Given the description of an element on the screen output the (x, y) to click on. 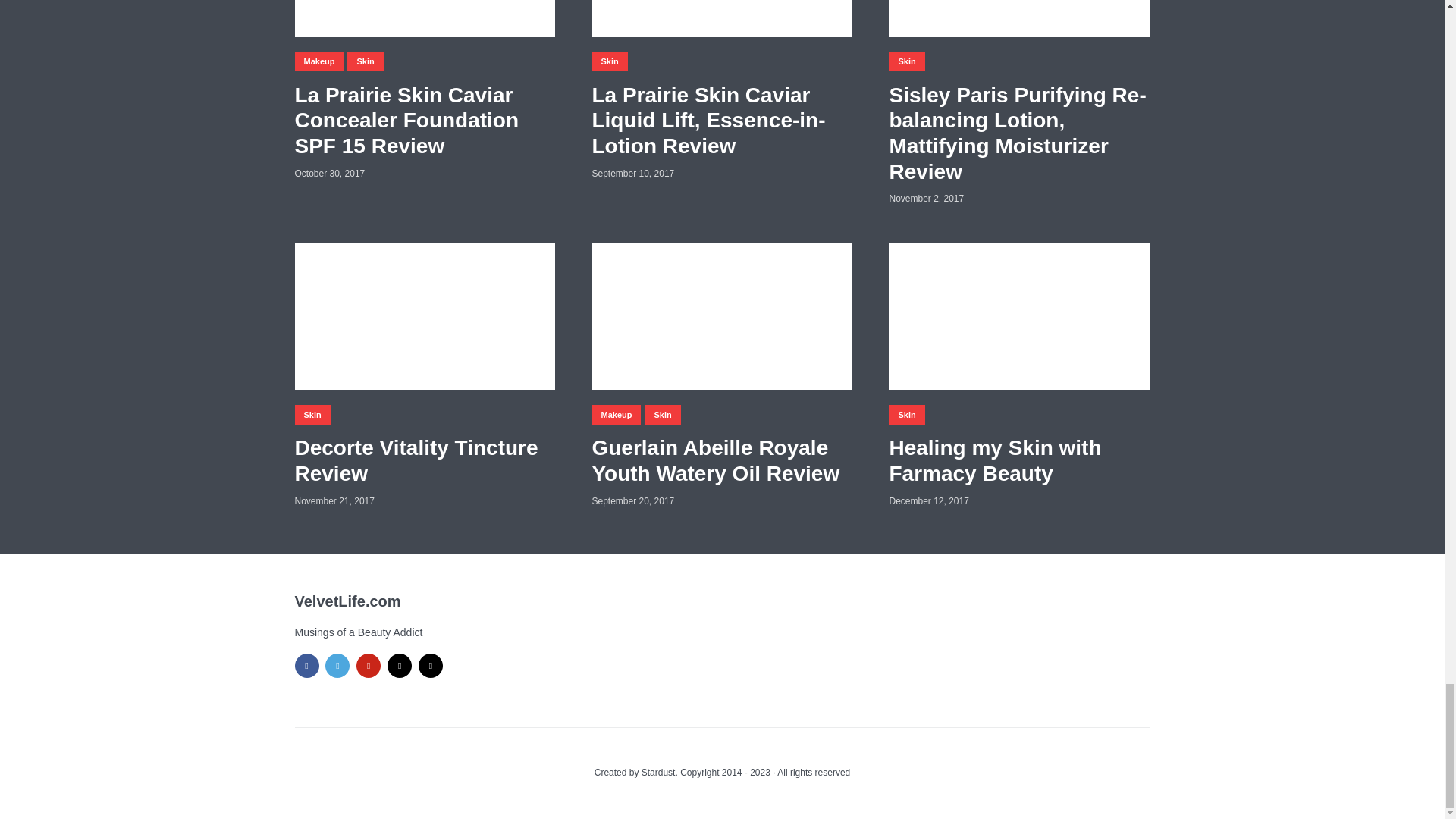
BLOGLOVIN' (399, 665)
Instagram (430, 665)
Pinterest (368, 665)
Facebook (306, 665)
